Given the description of an element on the screen output the (x, y) to click on. 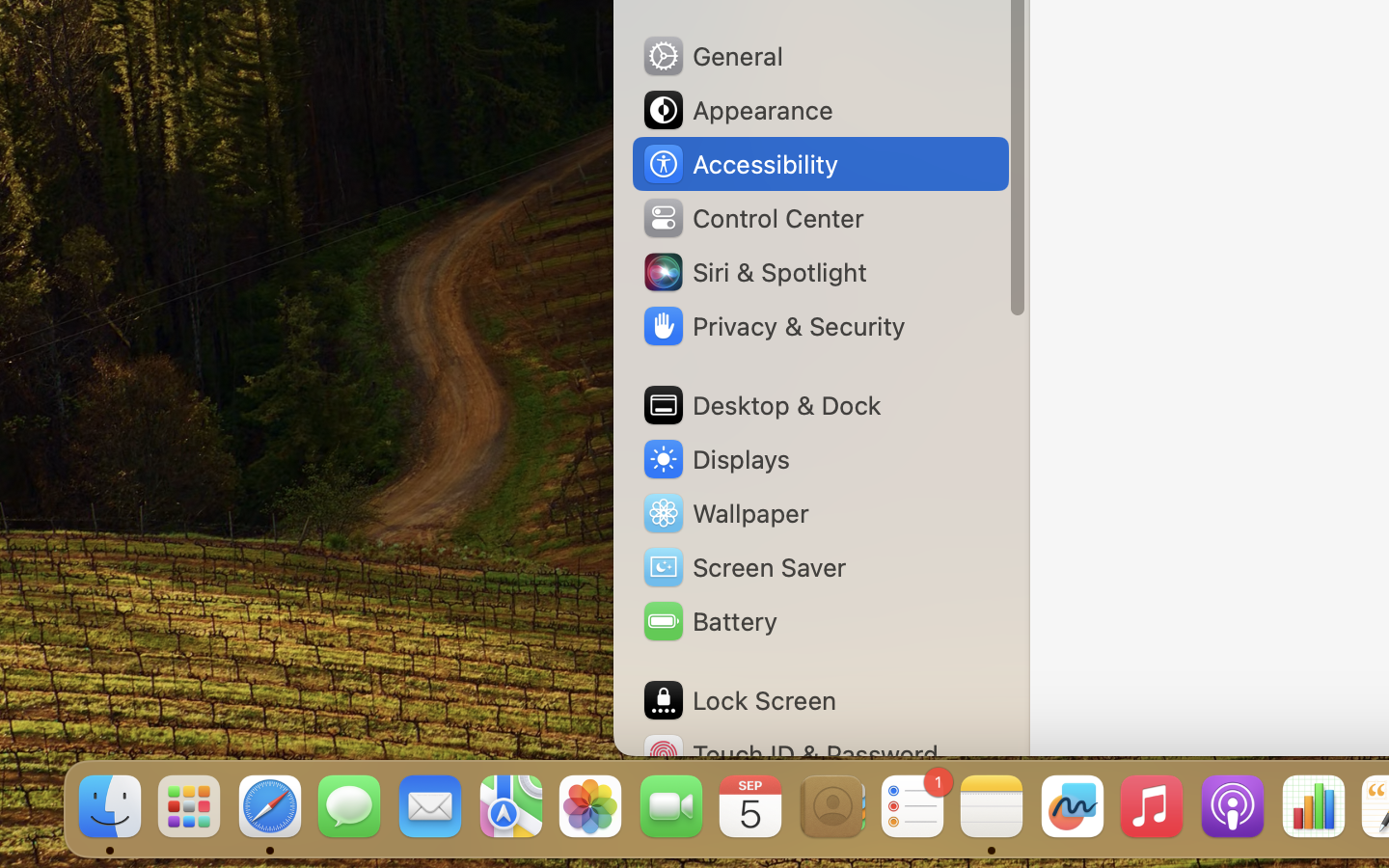
Desktop & Dock Element type: AXStaticText (760, 404)
Appearance Element type: AXStaticText (736, 109)
Privacy & Security Element type: AXStaticText (772, 325)
Siri & Spotlight Element type: AXStaticText (753, 271)
Control Center Element type: AXStaticText (752, 217)
